Given the description of an element on the screen output the (x, y) to click on. 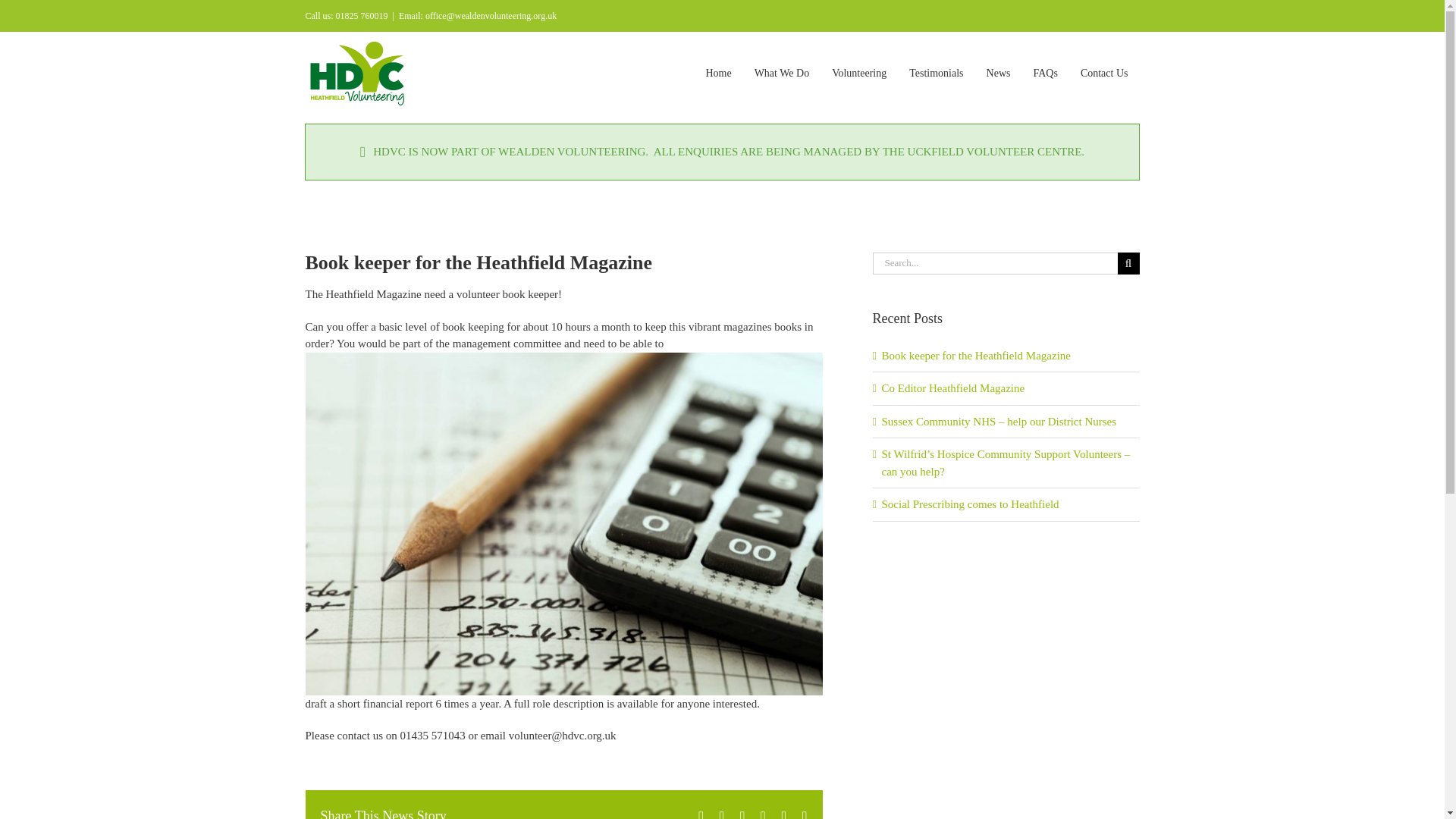
Volunteering (859, 73)
Testimonials (936, 73)
What We Do (781, 73)
